Given the description of an element on the screen output the (x, y) to click on. 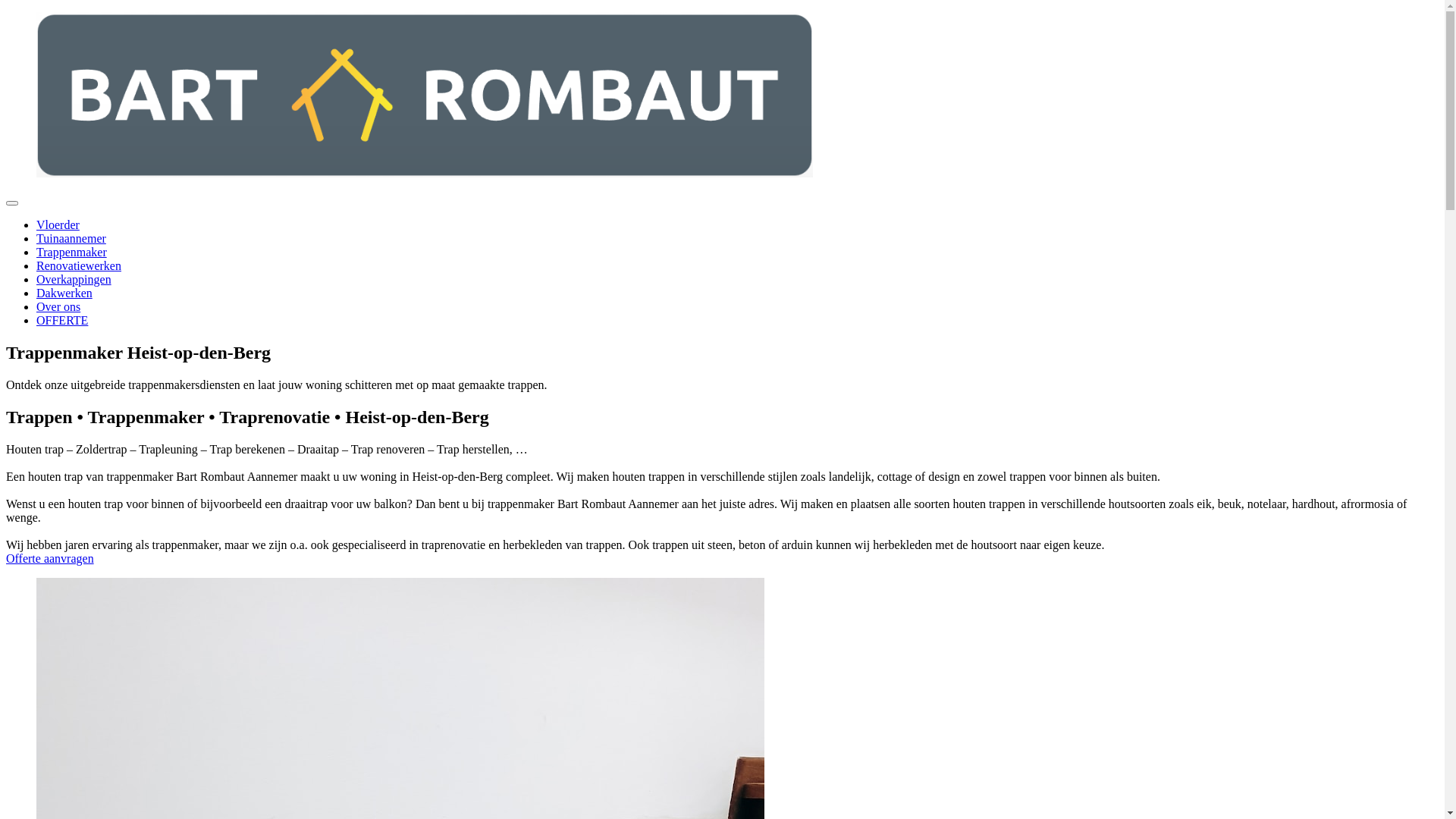
Vloerder Element type: text (57, 224)
Trappenmaker Element type: text (71, 251)
Dakwerken Element type: text (64, 292)
Tuinaannemer Element type: text (71, 238)
Over ons Element type: text (58, 306)
Overkappingen Element type: text (73, 279)
Renovatiewerken Element type: text (78, 265)
Offerte aanvragen Element type: text (50, 558)
Trappenmaker Heist-op-den-Berg Element type: hover (424, 94)
OFFERTE Element type: text (61, 319)
